Given the description of an element on the screen output the (x, y) to click on. 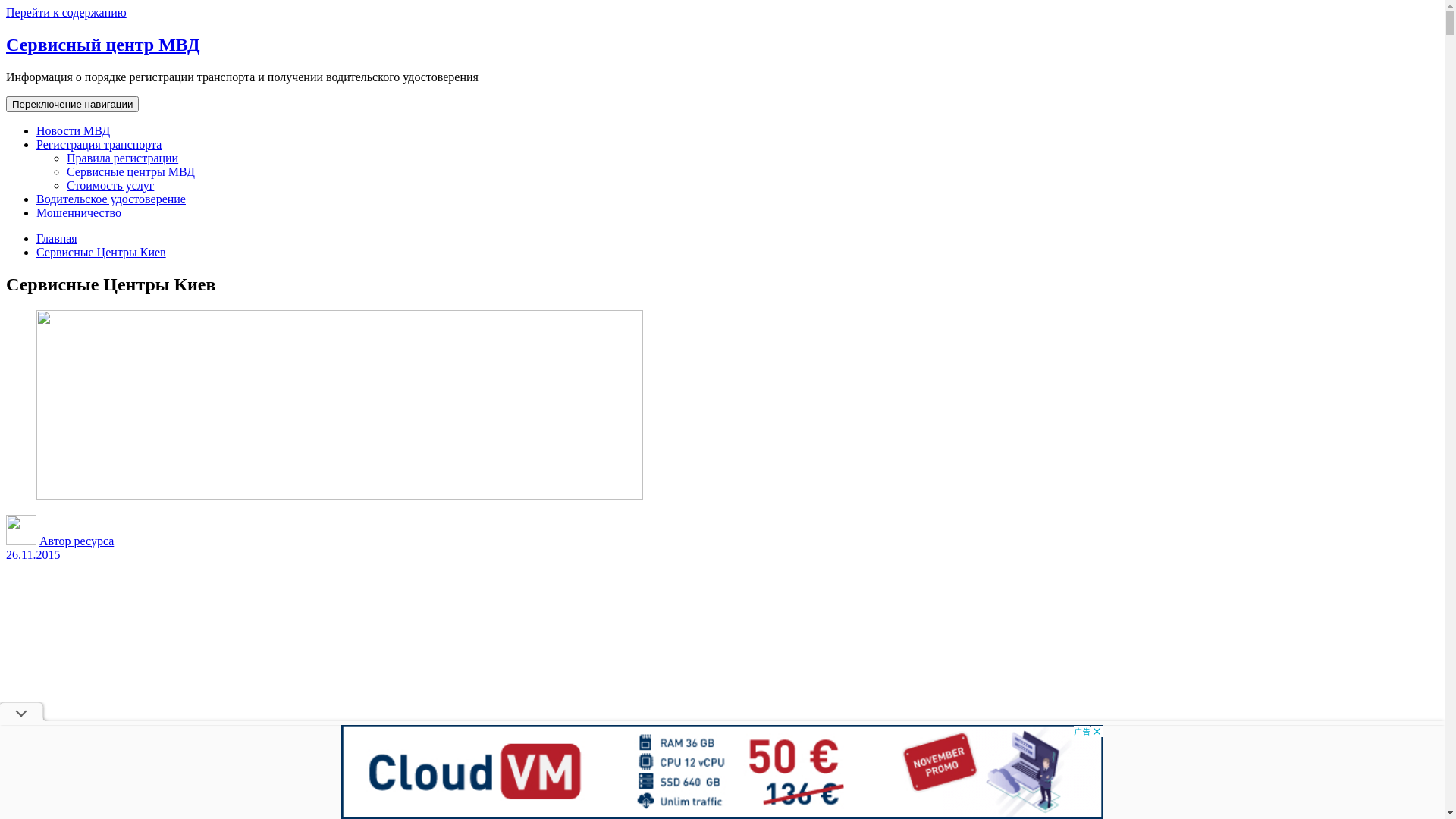
Advertisement Element type: hover (721, 675)
26.11.2015 Element type: text (32, 554)
